Given the description of an element on the screen output the (x, y) to click on. 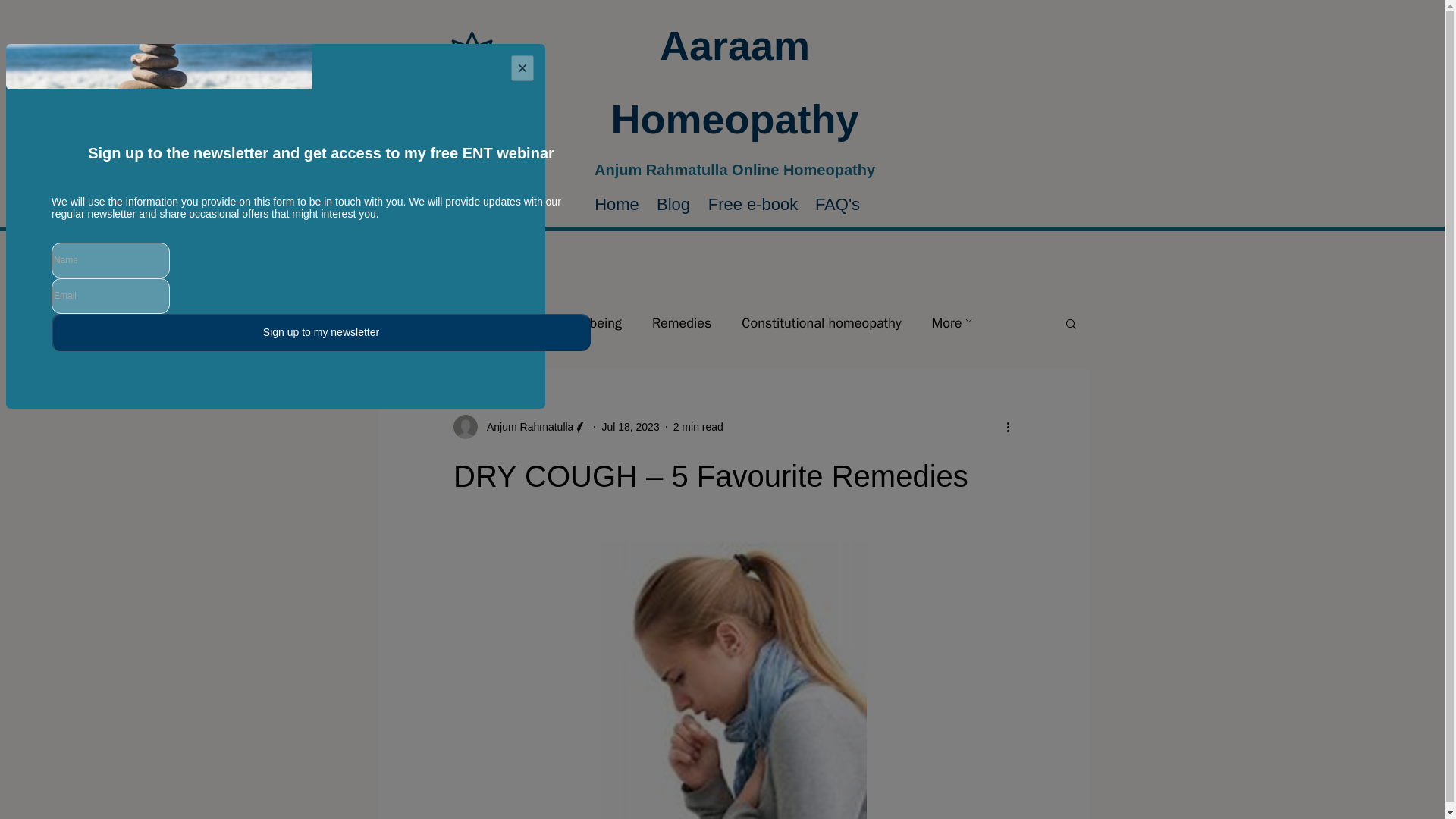
Anjum Rahmatulla (525, 426)
Free e-book (752, 204)
AH Logo original star blue 1.png (472, 59)
Constitutional homeopathy (821, 322)
Homeopathy (497, 322)
Wellbeing (592, 322)
Blog (672, 204)
FAQ's (836, 204)
Remedies (681, 322)
All Posts (403, 322)
Home (616, 204)
2 min read (697, 426)
Jul 18, 2023 (630, 426)
